Given the description of an element on the screen output the (x, y) to click on. 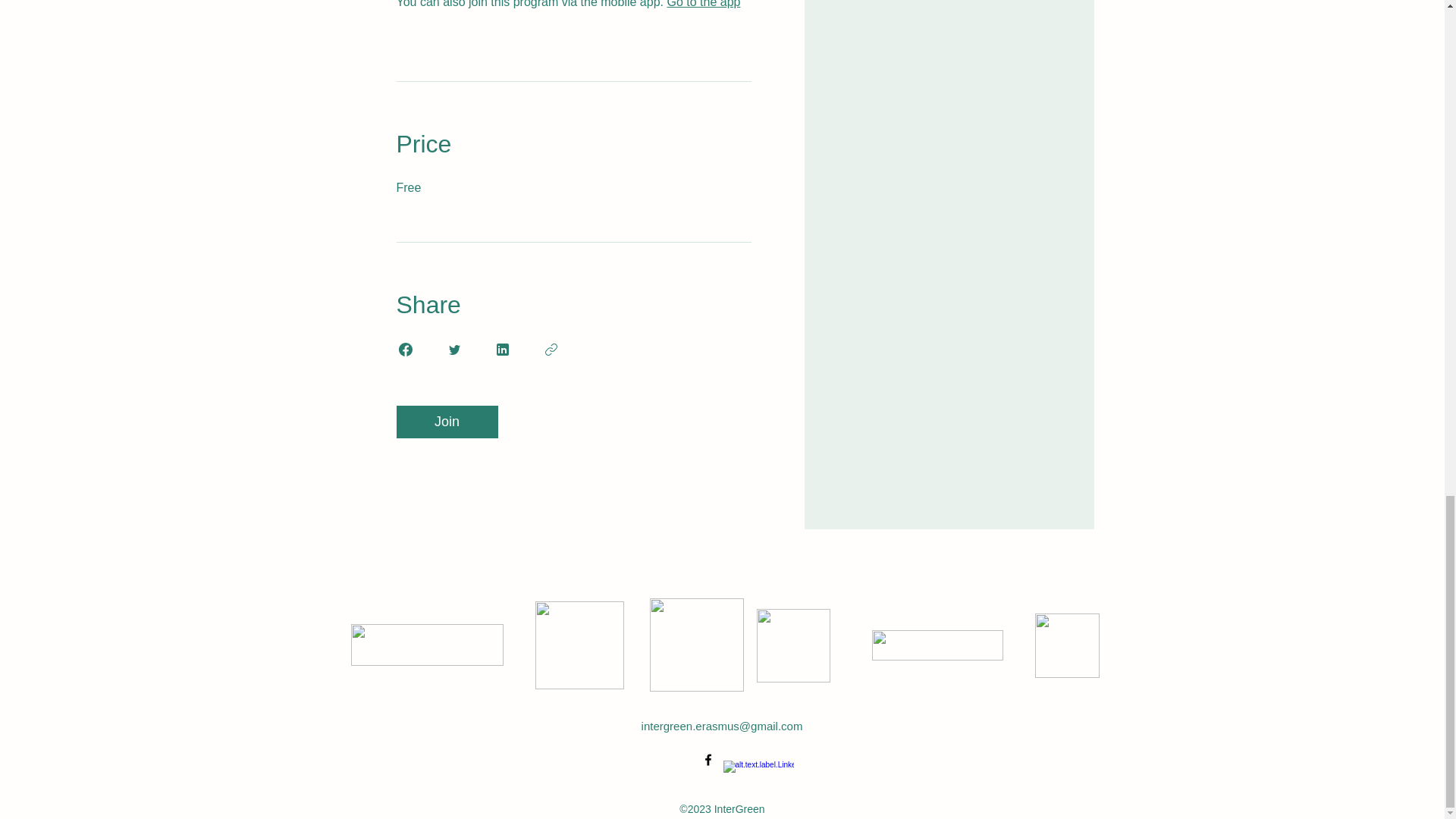
Join (446, 421)
SYNTHESIS-LOGO-RGB.png (937, 644)
6.png (695, 644)
Go to the app (702, 4)
10.png (793, 645)
8.png (1066, 645)
